Given the description of an element on the screen output the (x, y) to click on. 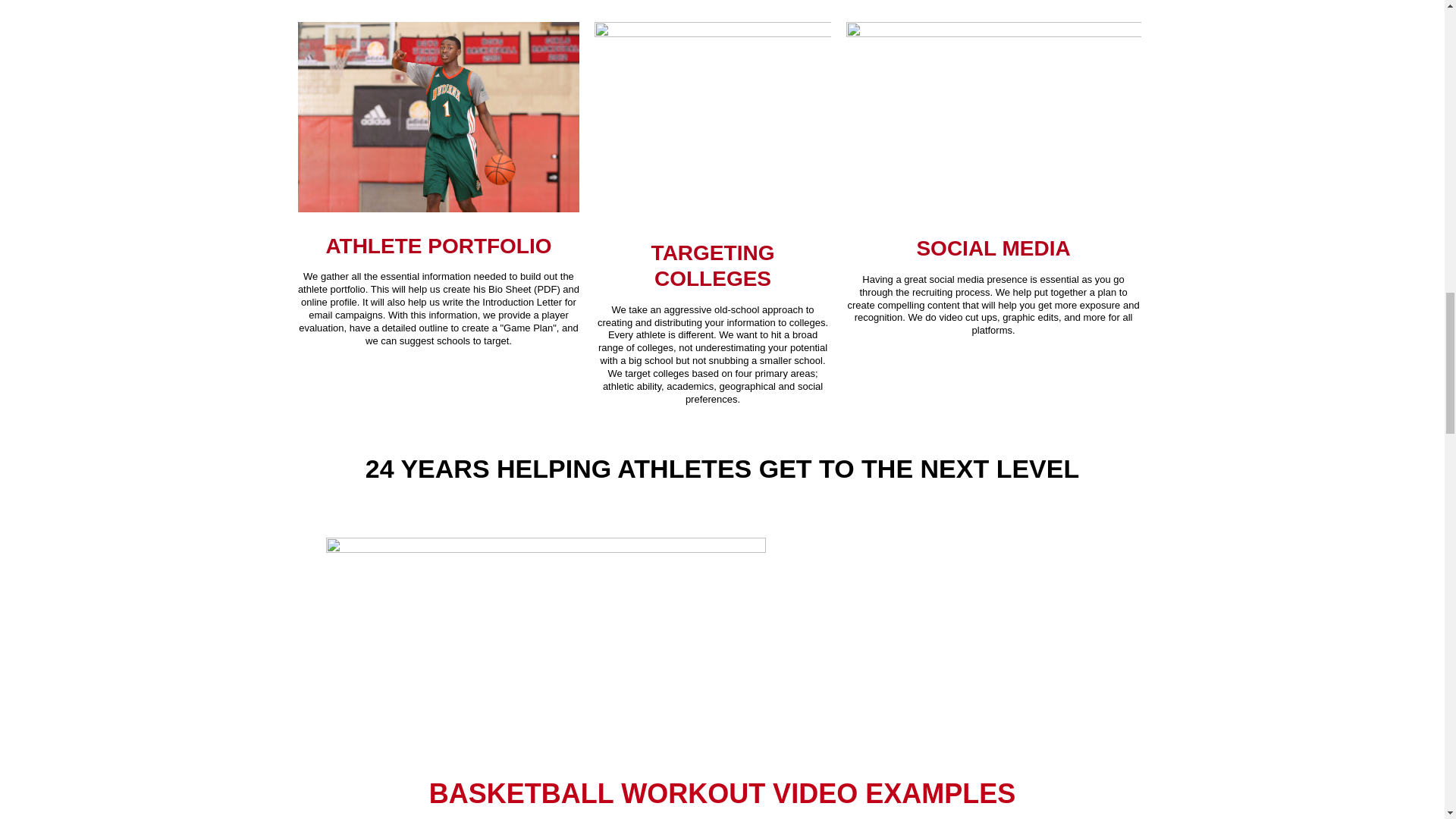
TARGETING COLLEGES (712, 265)
SOCIAL MEDIA (992, 248)
ATHLETE PORTFOLIO (437, 245)
